Given the description of an element on the screen output the (x, y) to click on. 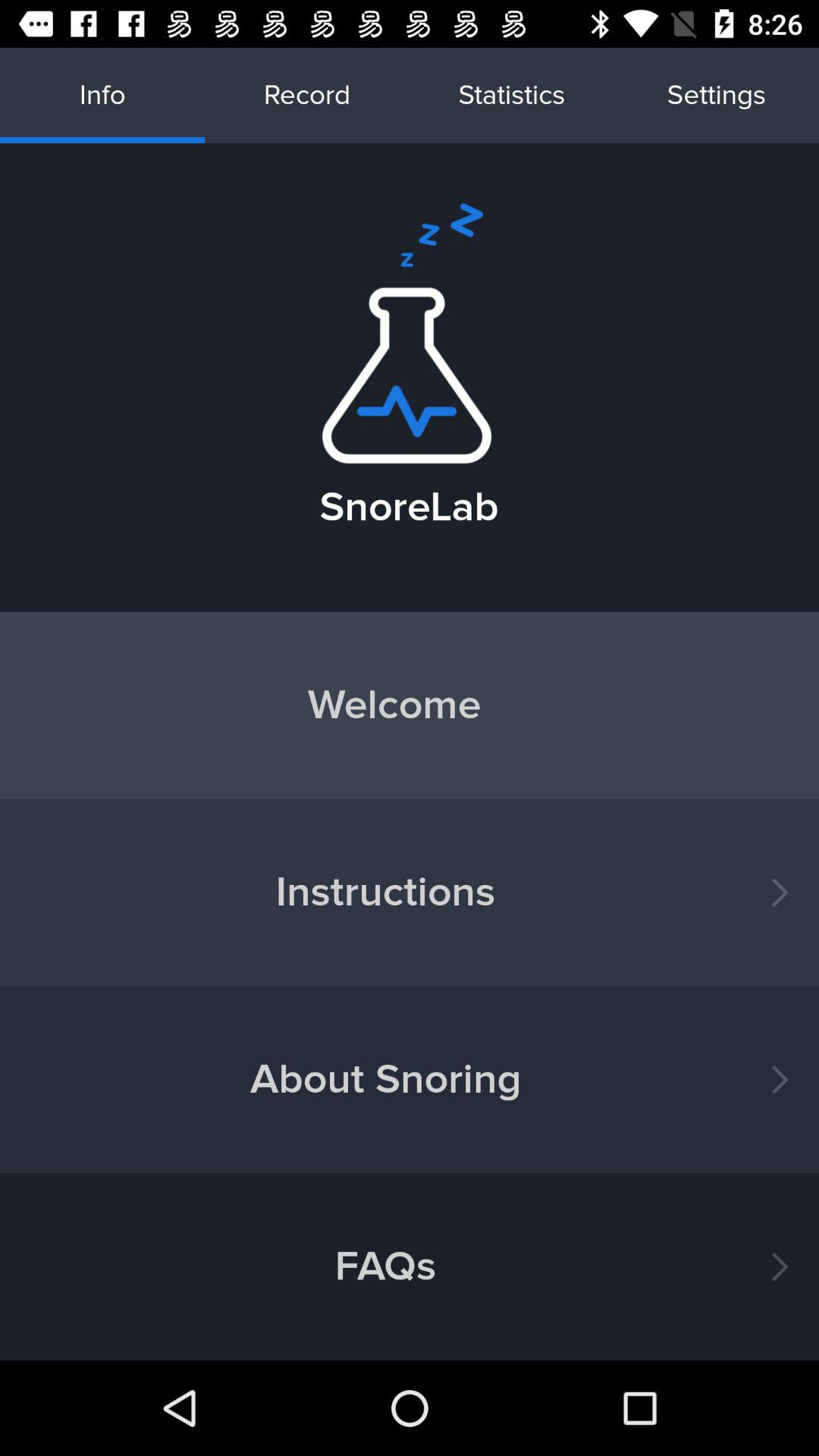
select the item below the instructions (409, 1079)
